Given the description of an element on the screen output the (x, y) to click on. 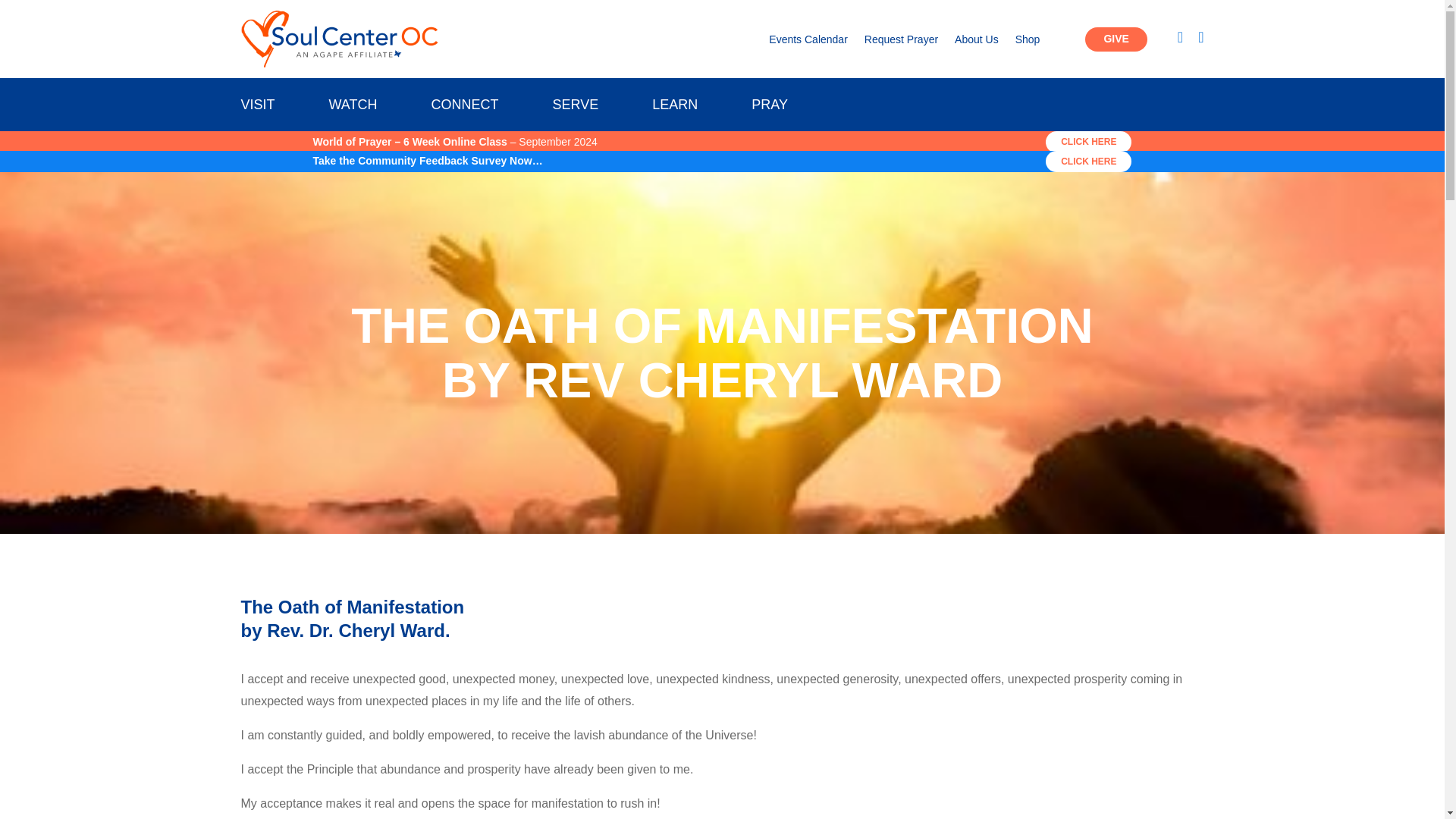
CONNECT (463, 107)
Shop (1027, 42)
GIVE (1115, 39)
SERVE (574, 107)
LEARN (674, 107)
CLICK HERE (1088, 141)
CLICK HERE (1088, 160)
VISIT (258, 107)
Request Prayer (900, 42)
Events Calendar (807, 42)
Group 7 (339, 38)
About Us (976, 42)
WATCH (353, 107)
PRAY (769, 107)
